Given the description of an element on the screen output the (x, y) to click on. 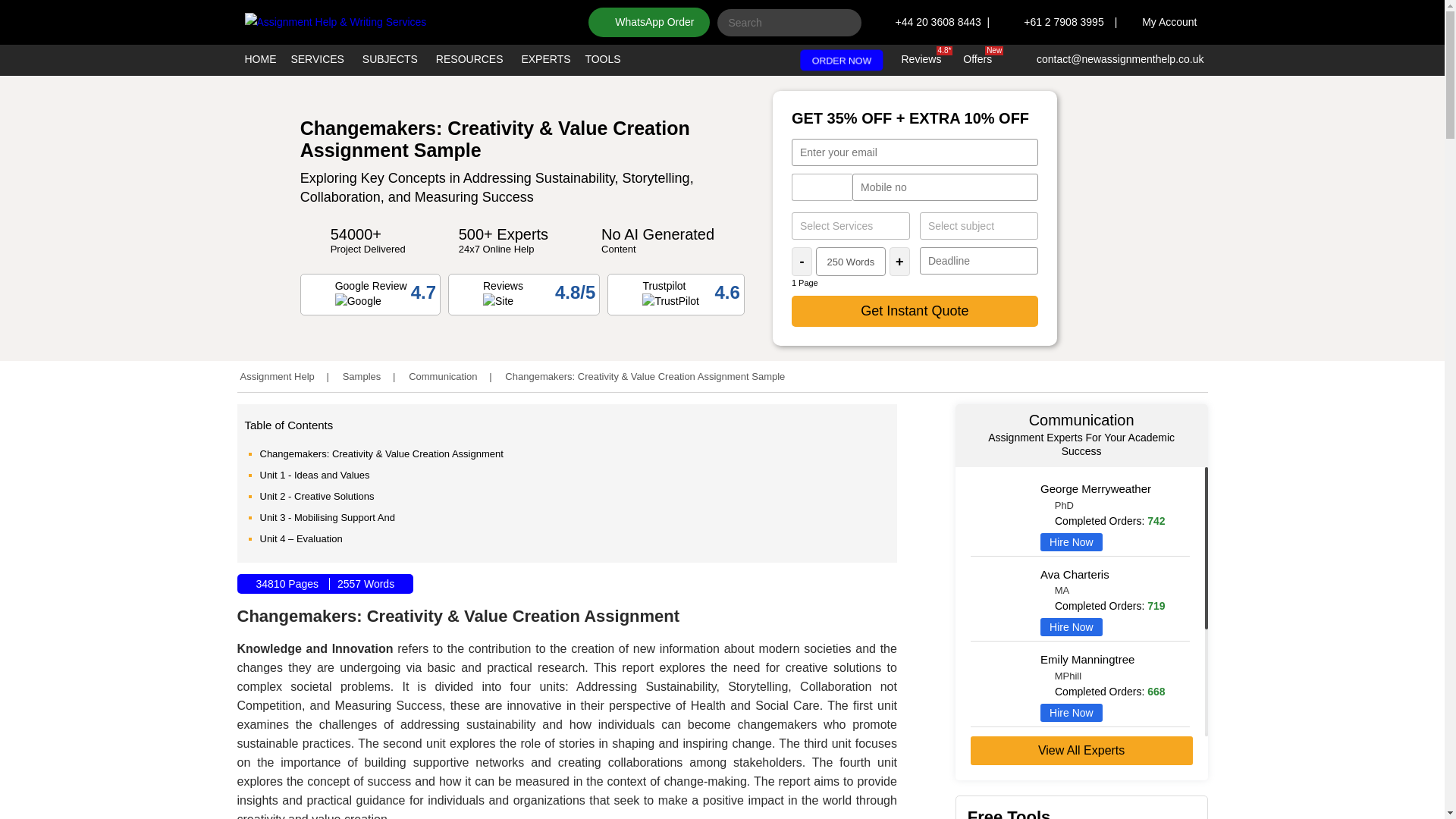
250 Words (850, 261)
Assignment Services (851, 225)
WhatsApp Order (648, 21)
search text (789, 22)
SERVICES (316, 60)
My Account (1168, 21)
search (839, 25)
HOME (261, 60)
Email Id (915, 152)
Live Chat on WhatsApp (53, 765)
